Given the description of an element on the screen output the (x, y) to click on. 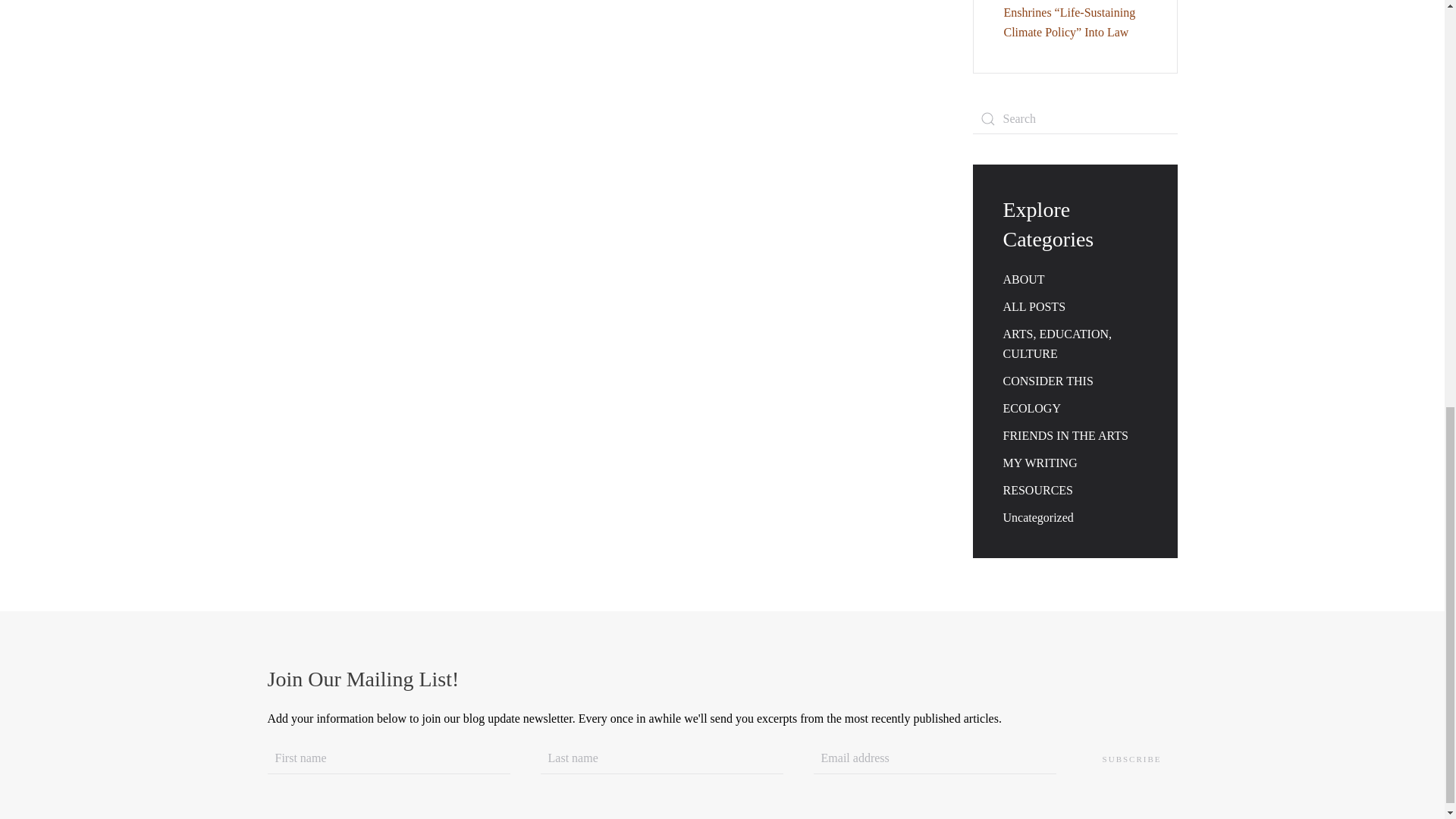
ABOUT (1023, 278)
ARTS, EDUCATION, CULTURE (1056, 343)
ALL POSTS (1034, 306)
ECOLOGY (1031, 408)
CONSIDER THIS (1048, 380)
MY WRITING (1040, 462)
FRIENDS IN THE ARTS (1064, 435)
